Given the description of an element on the screen output the (x, y) to click on. 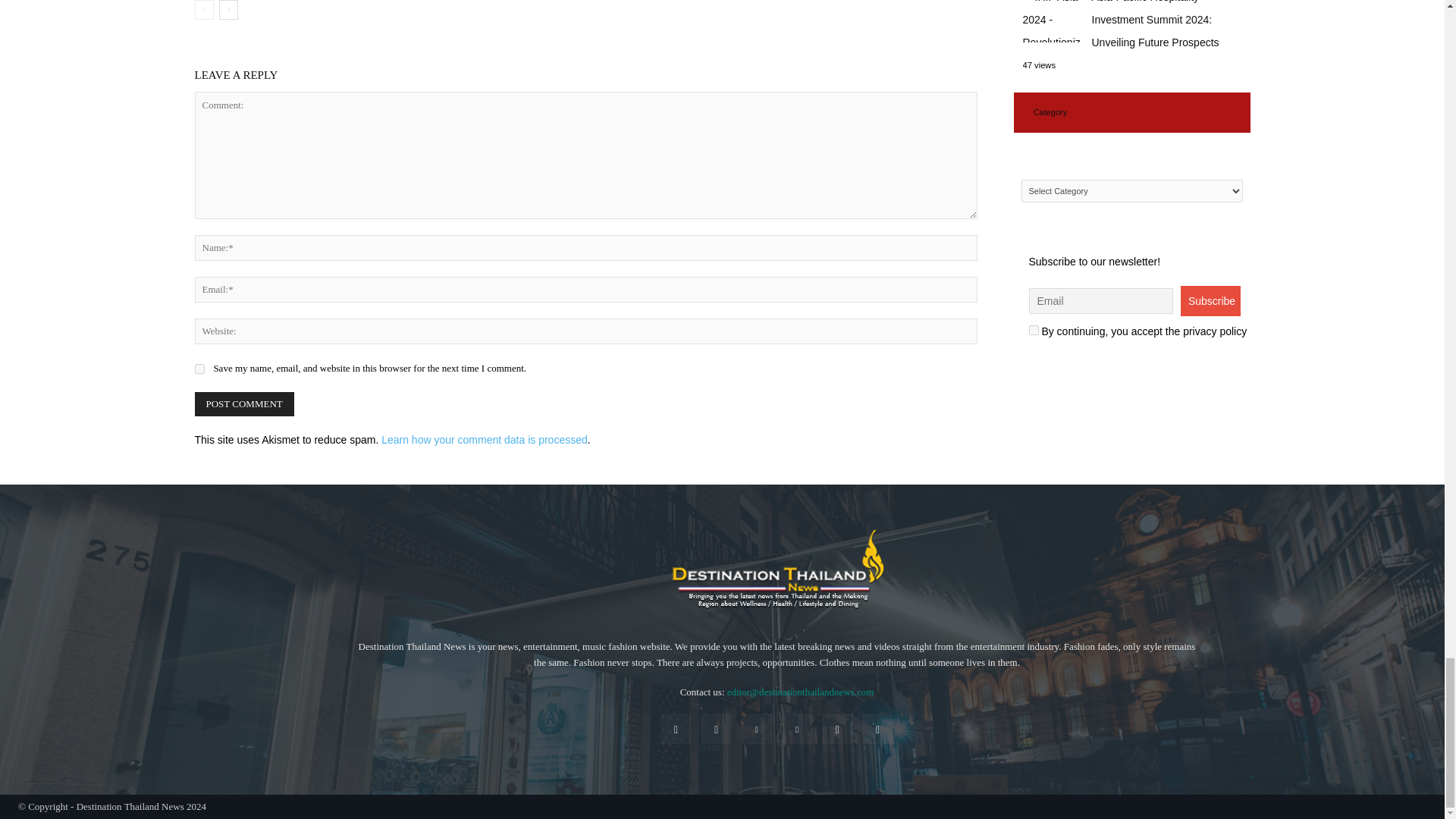
Subscribe (1210, 300)
yes (198, 368)
on (1032, 329)
Post Comment (243, 404)
